Given the description of an element on the screen output the (x, y) to click on. 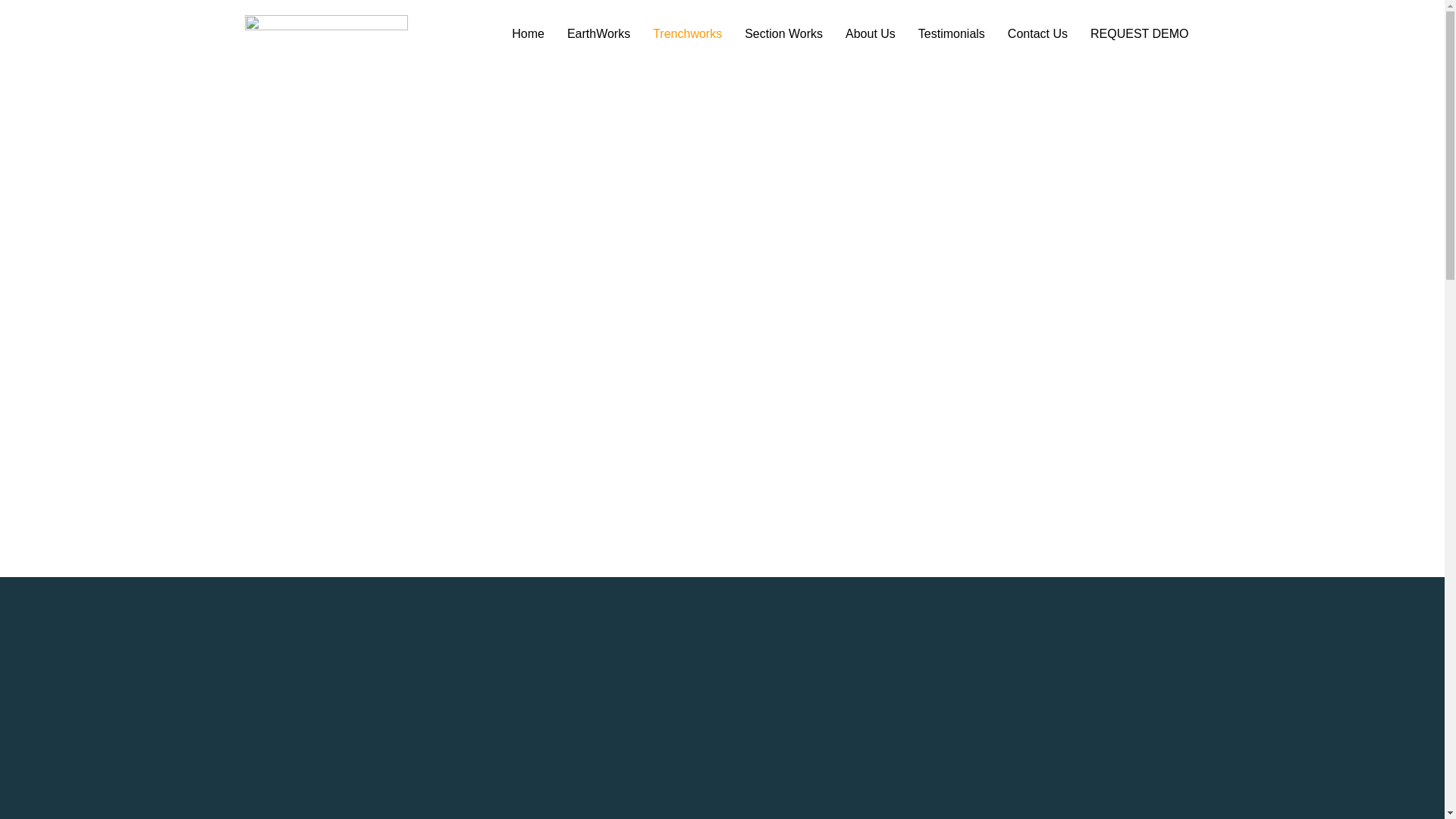
Testimonials (951, 33)
About Us (870, 33)
Home (528, 33)
EarthWorks (599, 33)
REQUEST DEMO (1138, 33)
Trenchworks (687, 33)
Contact Us (1036, 33)
Section Works (783, 33)
